Given the description of an element on the screen output the (x, y) to click on. 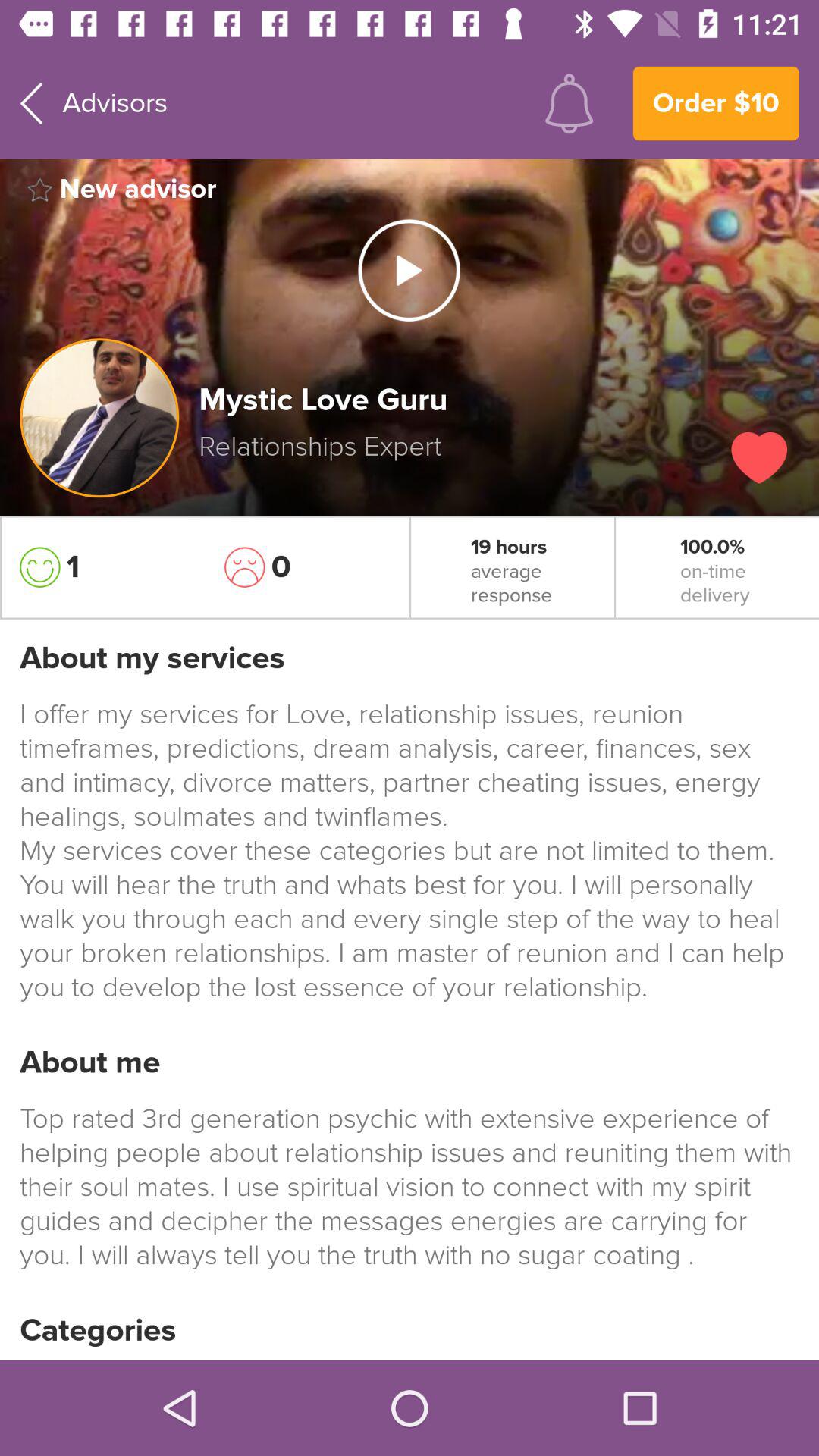
click the order $10 item (716, 103)
